Given the description of an element on the screen output the (x, y) to click on. 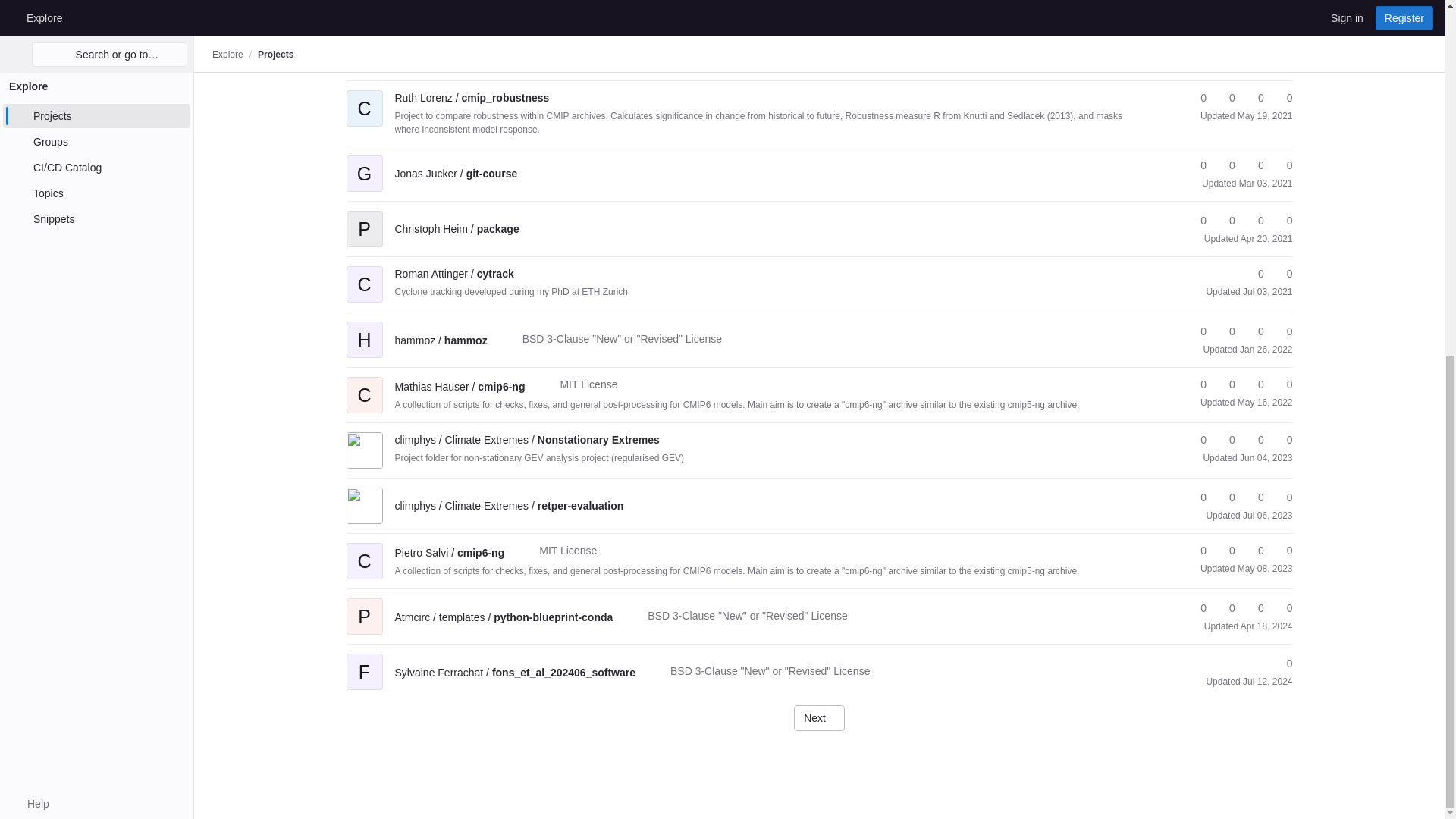
Help (30, 178)
